Given the description of an element on the screen output the (x, y) to click on. 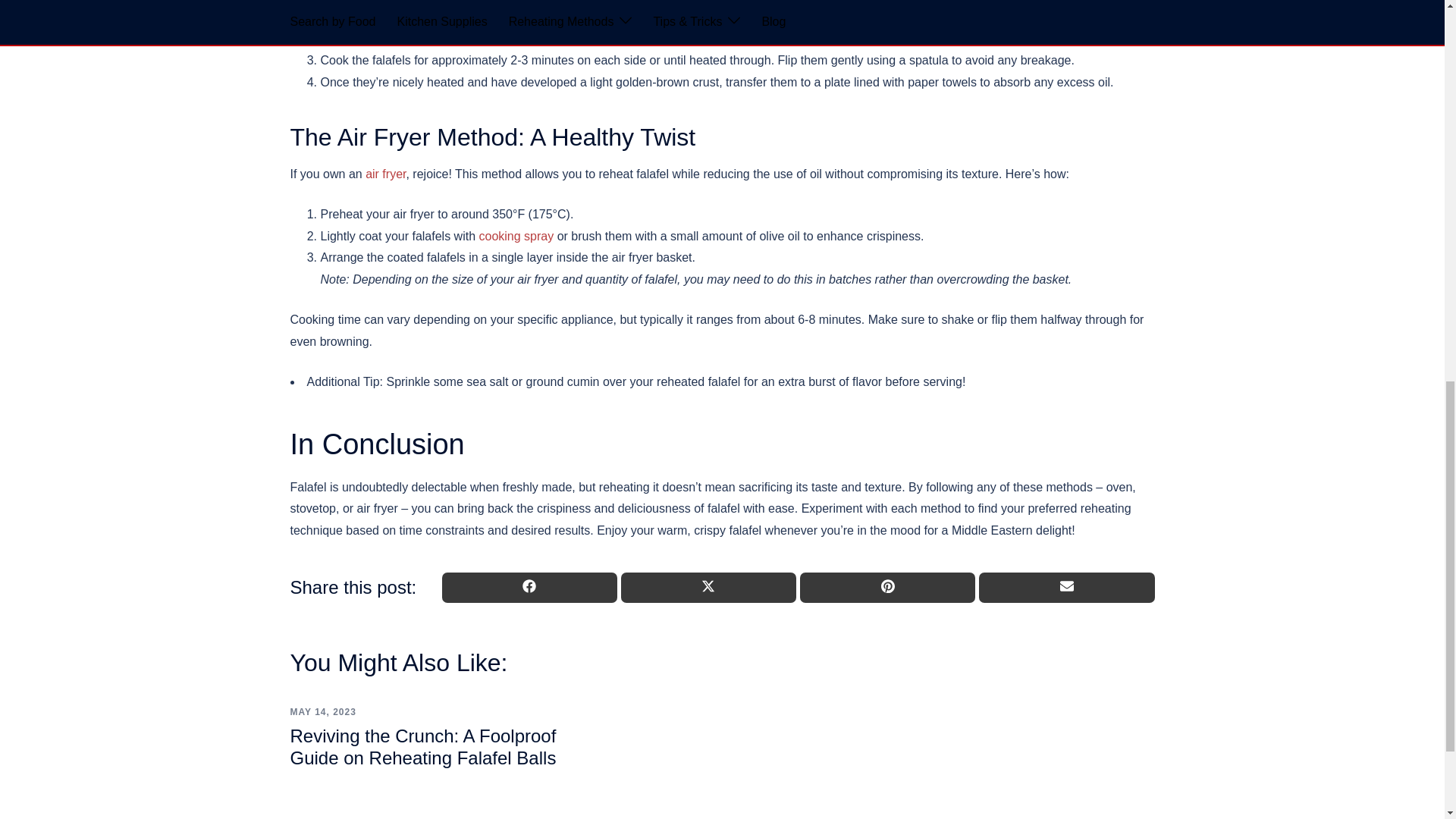
frying pan (716, 15)
non-stick skillet (630, 15)
skillet (514, 38)
olive oil (529, 15)
